Given the description of an element on the screen output the (x, y) to click on. 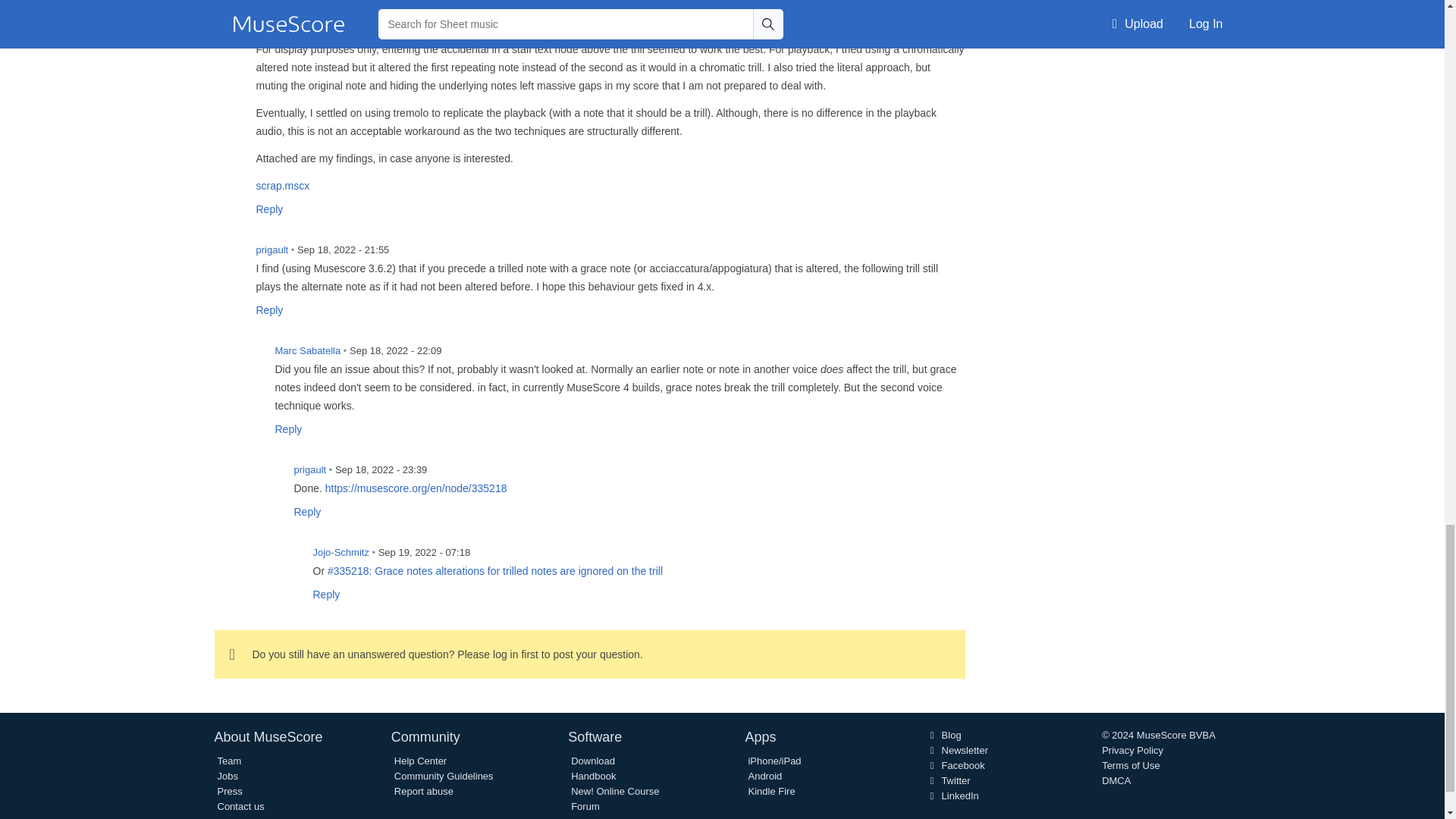
prigault (229, 259)
ArsTropica (229, 21)
